Given the description of an element on the screen output the (x, y) to click on. 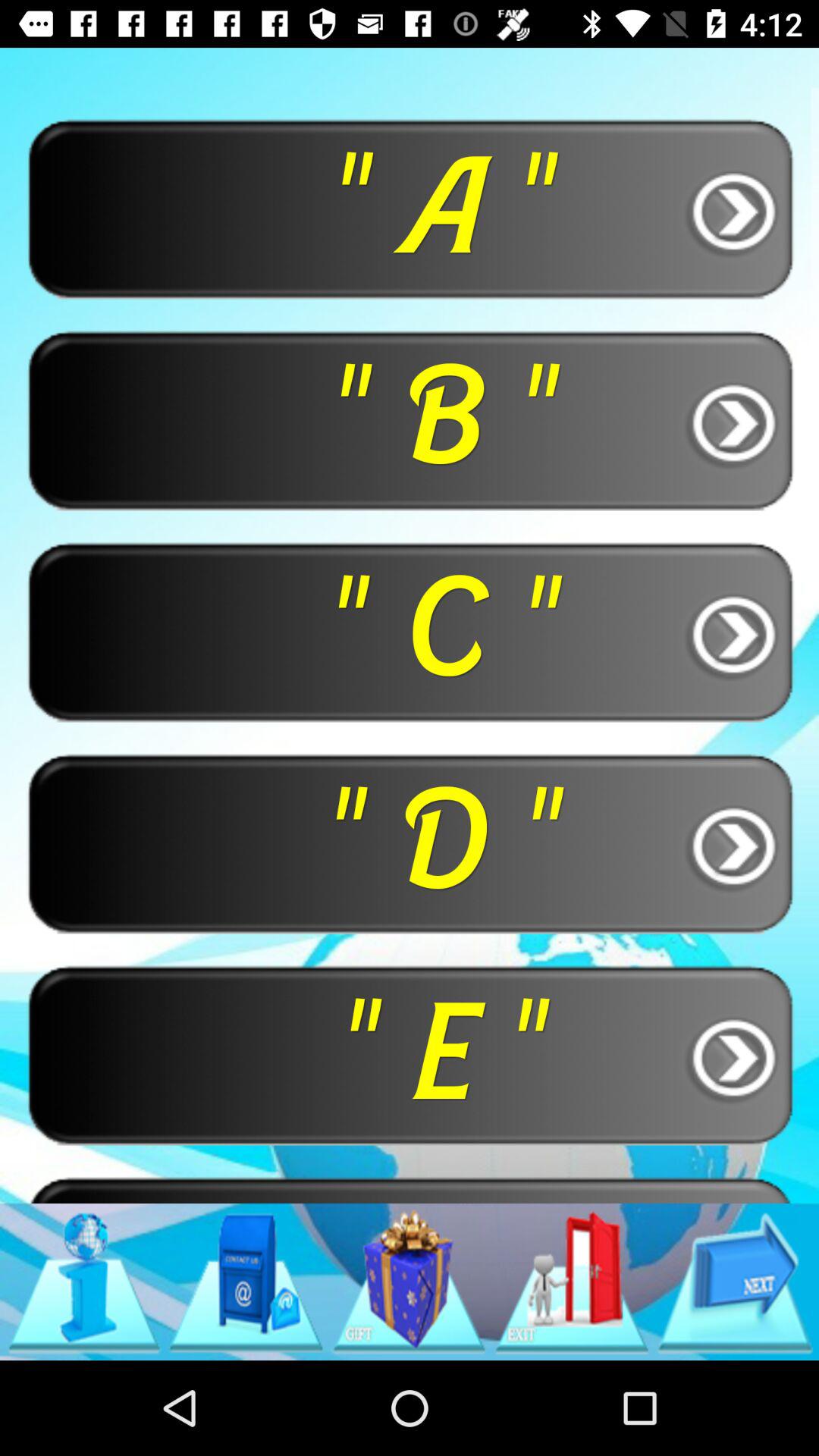
launch the   " c " button (409, 631)
